Given the description of an element on the screen output the (x, y) to click on. 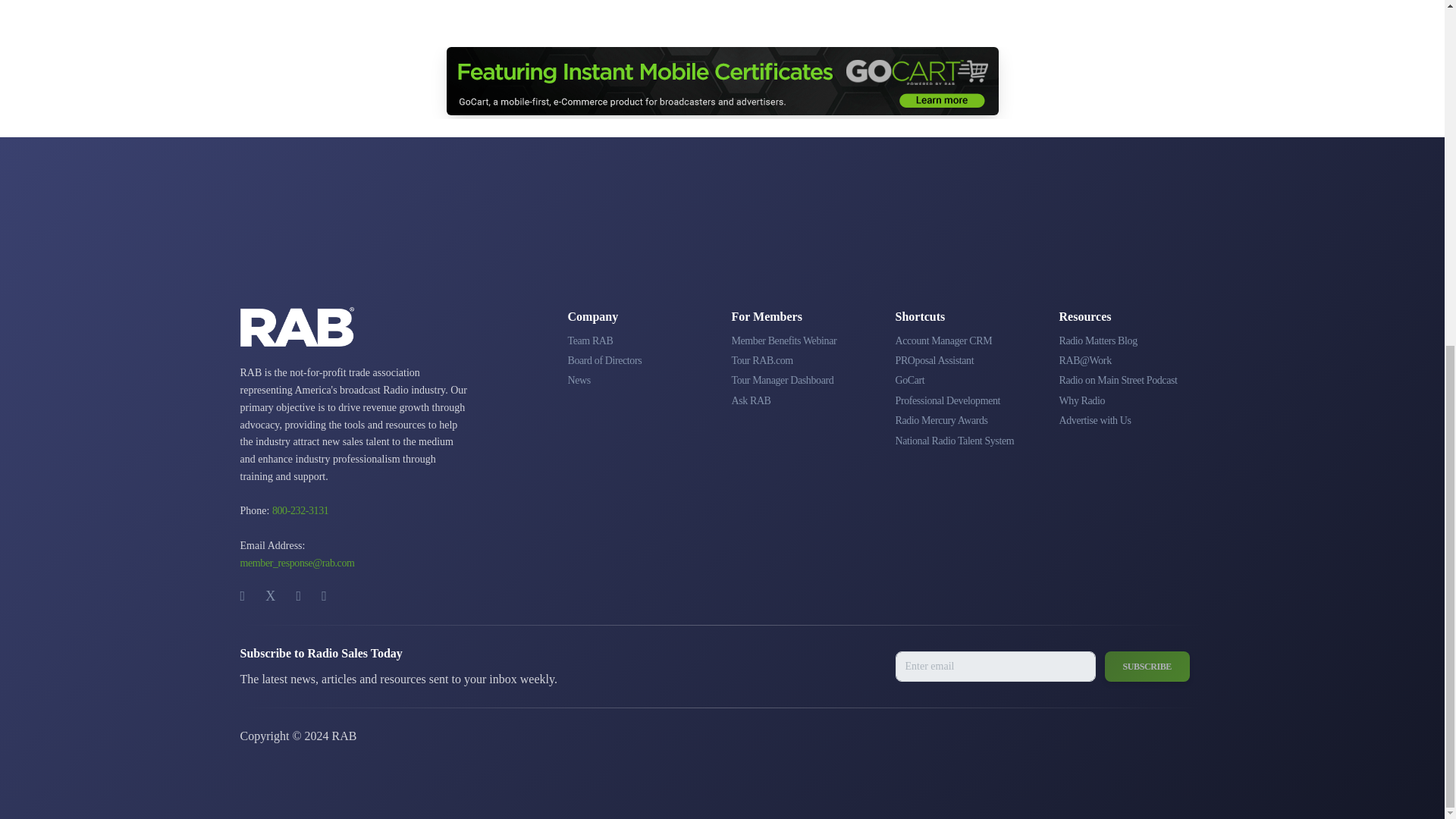
Subscribe (1146, 666)
